Given the description of an element on the screen output the (x, y) to click on. 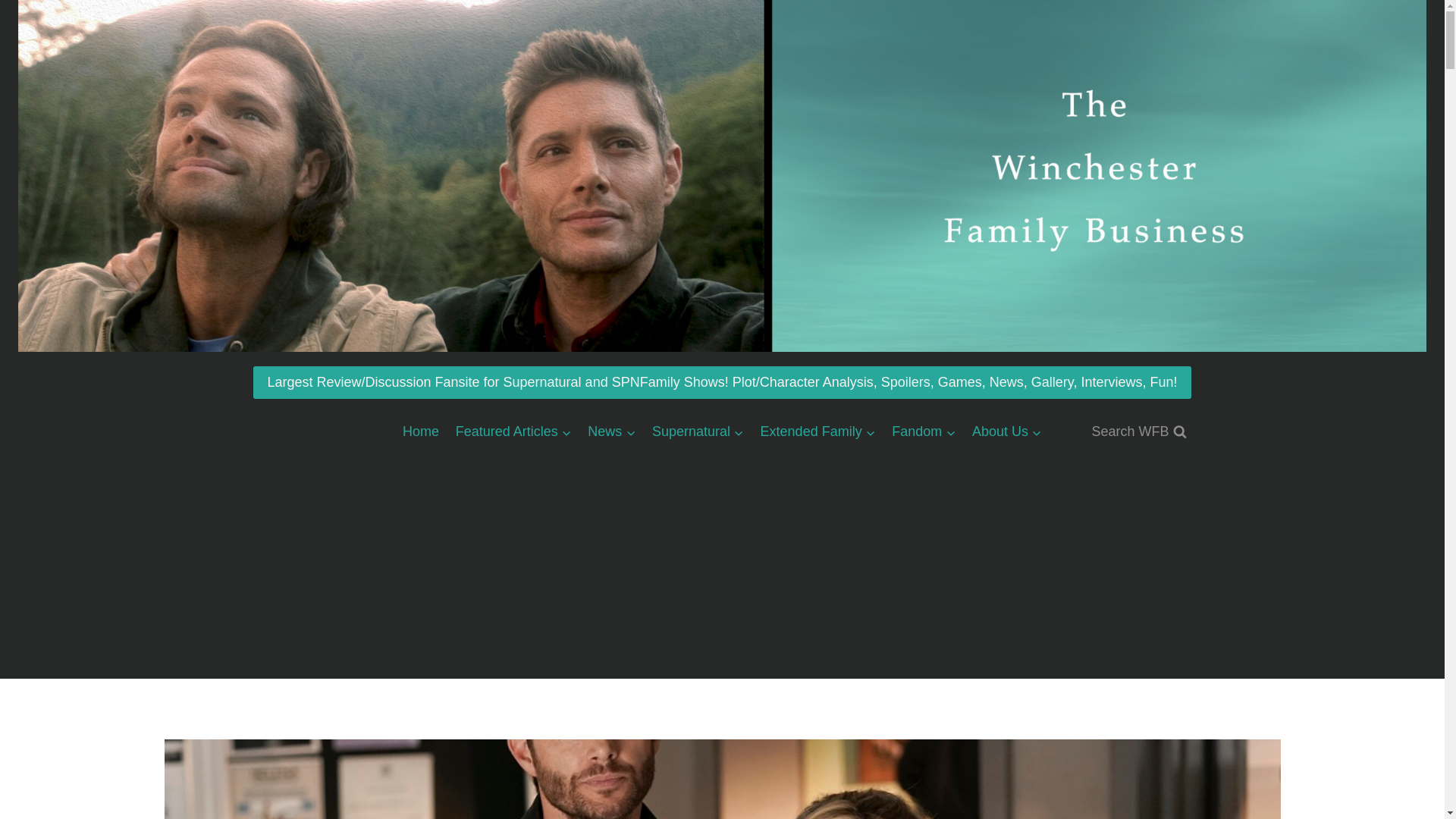
About Us (1006, 431)
Home (420, 431)
Search WFB (1138, 431)
Supernatural (697, 431)
Extended Family (817, 431)
Fandom (923, 431)
News (612, 431)
Featured Articles (512, 431)
